Given the description of an element on the screen output the (x, y) to click on. 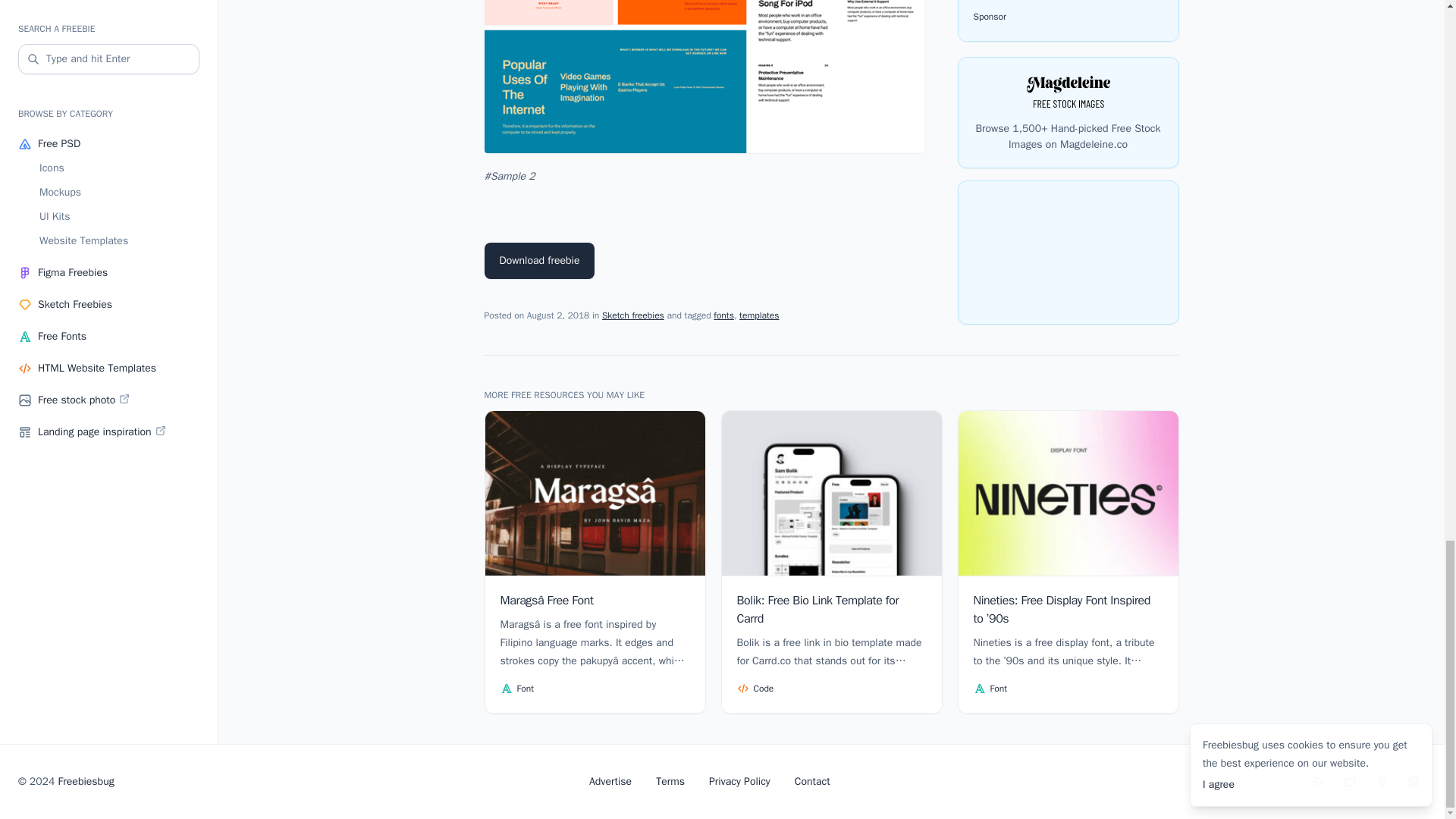
templates (758, 315)
Bolik: Free Bio Link Template for Carrd (816, 609)
Privacy Policy (739, 780)
Advertise (610, 780)
Terms (670, 780)
Download freebie (538, 260)
fonts (723, 315)
Contact (811, 780)
Sketch freebies (632, 315)
Freebiesbug (86, 780)
